Given the description of an element on the screen output the (x, y) to click on. 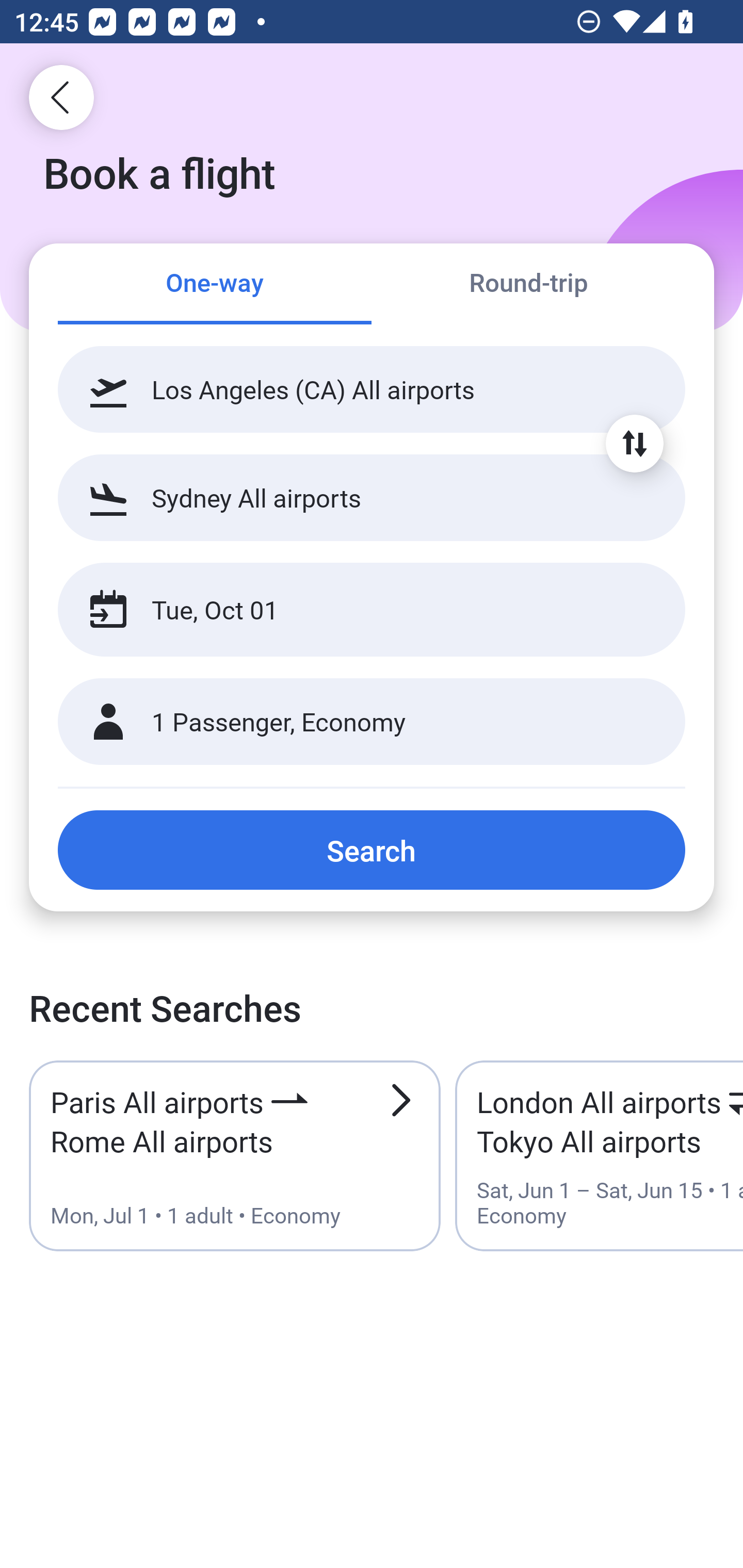
Round-trip (528, 284)
Los Angeles (CA) All airports (371, 389)
Sydney All airports (371, 497)
Tue, Oct 01 (349, 609)
1 Passenger, Economy (371, 721)
Search (371, 849)
